Given the description of an element on the screen output the (x, y) to click on. 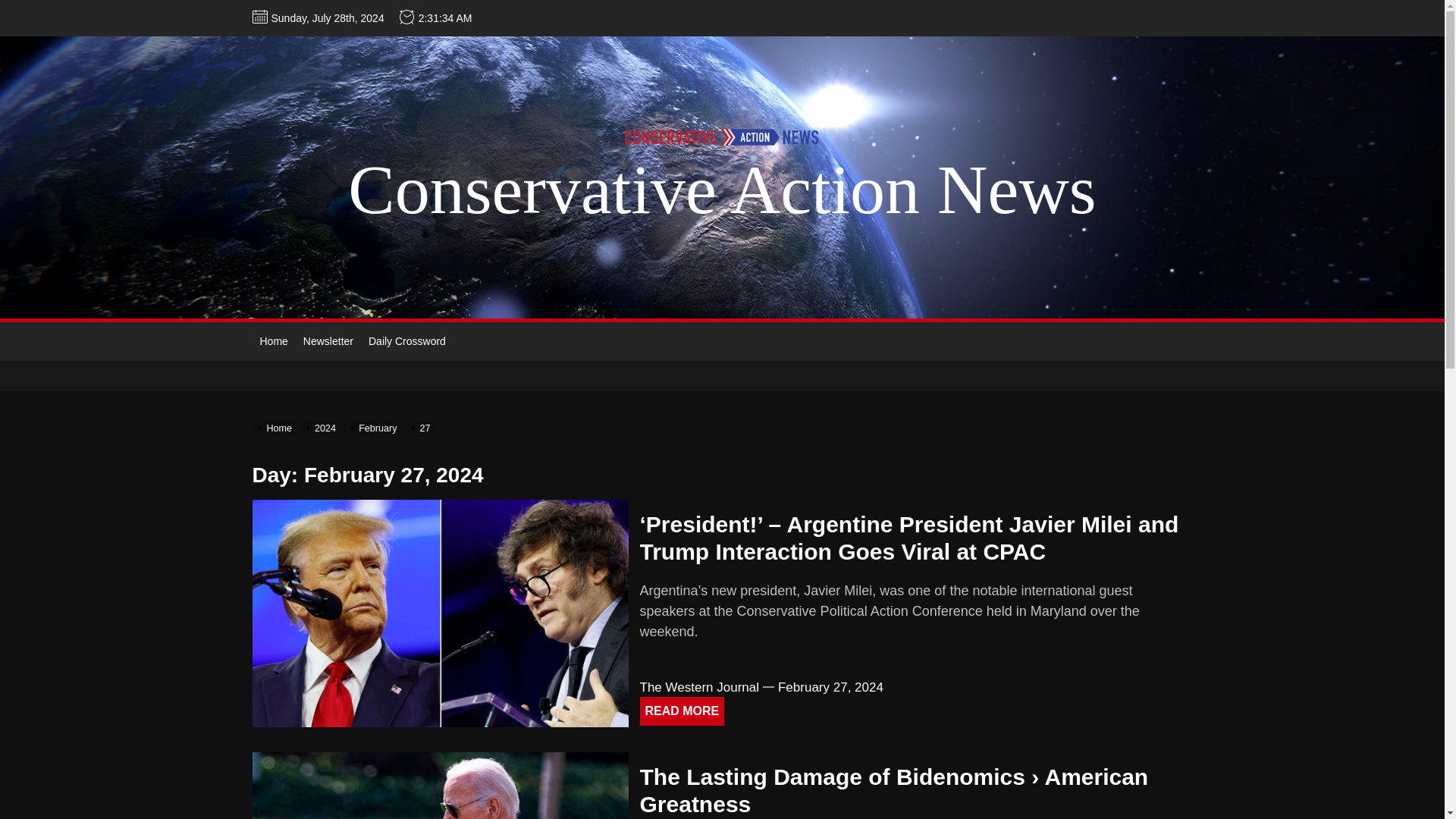
Daily Crossword (406, 341)
The Western Journal (699, 687)
2024 (321, 428)
Conservative Action News (721, 189)
27 (422, 428)
READ MORE (682, 710)
Home (275, 428)
Home (273, 341)
Newsletter (328, 341)
February 27, 2024 (830, 687)
February (373, 428)
